Given the description of an element on the screen output the (x, y) to click on. 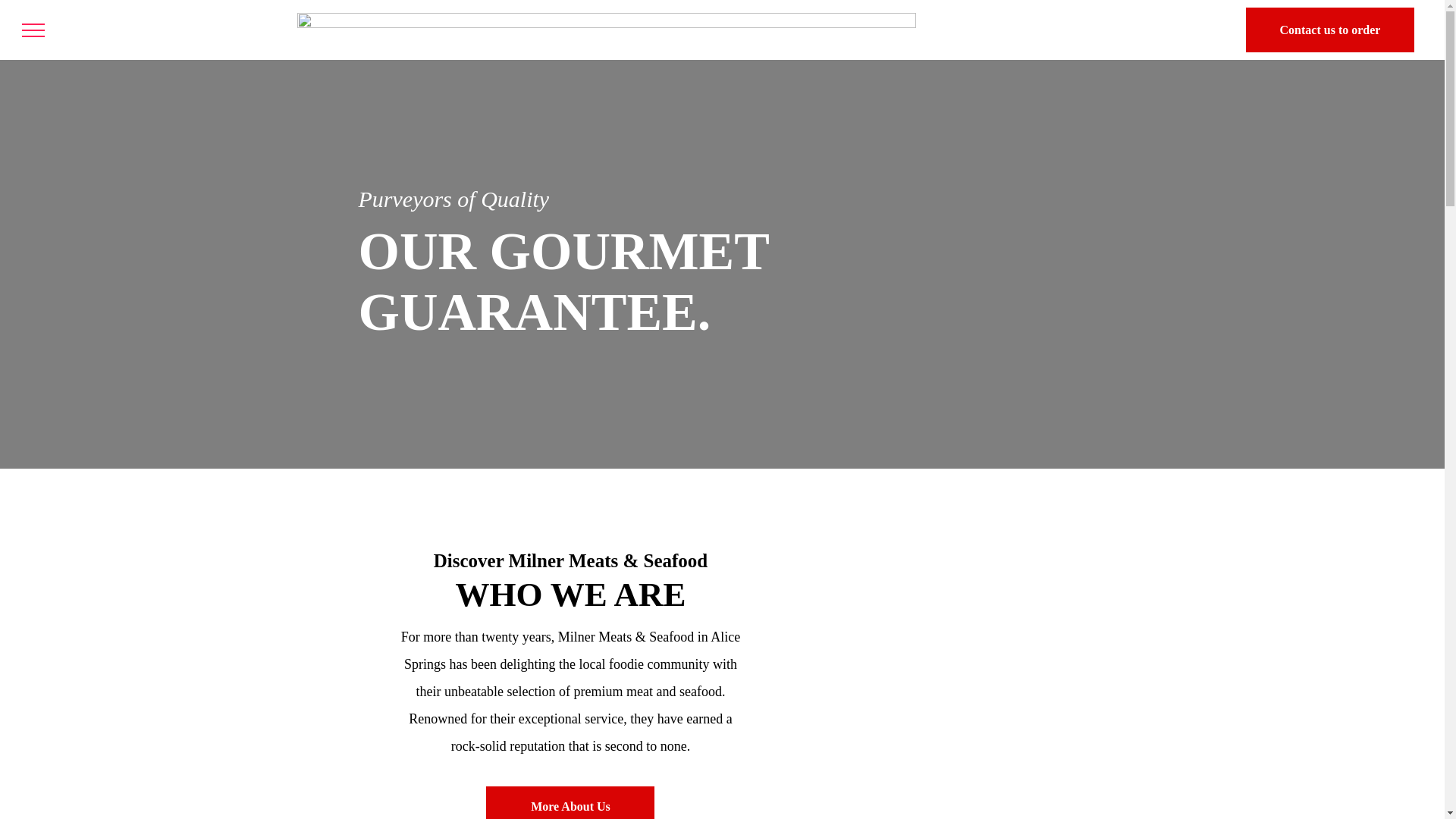
Contact us to order Element type: text (1329, 29)
